Given the description of an element on the screen output the (x, y) to click on. 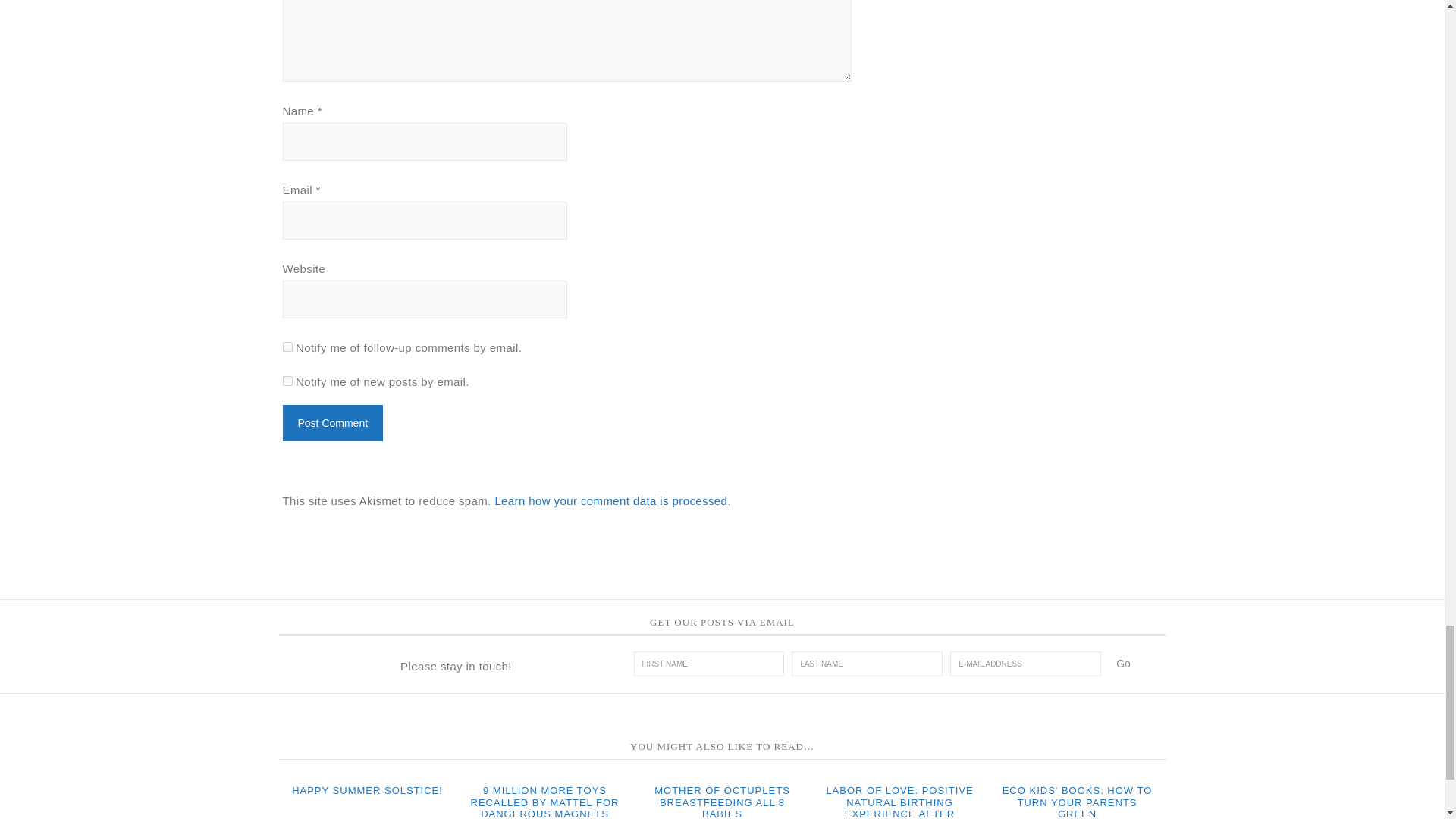
subscribe (287, 347)
subscribe (287, 380)
Go (1123, 663)
Post Comment (332, 422)
